Given the description of an element on the screen output the (x, y) to click on. 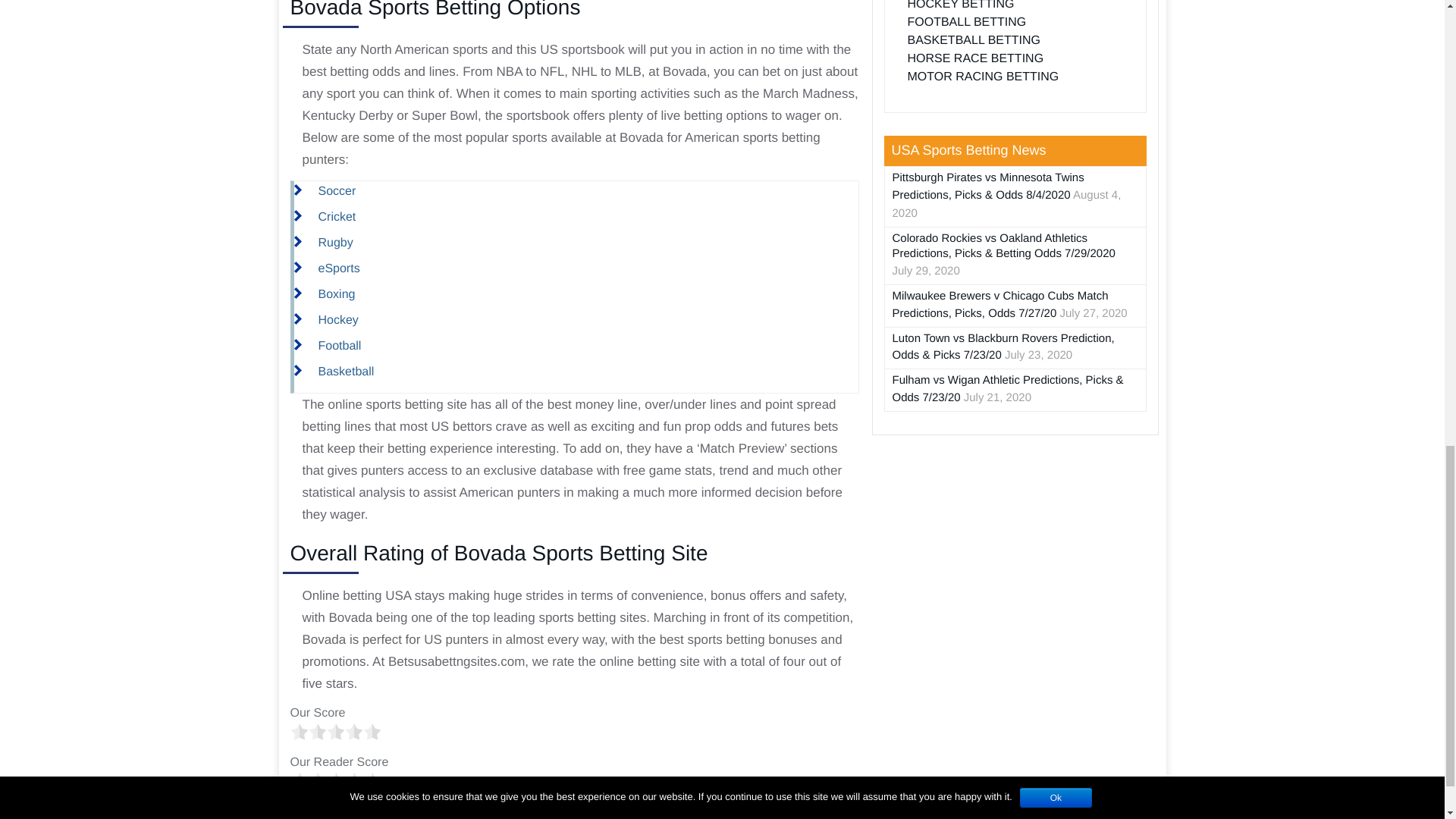
FOOTBALL BETTING (966, 21)
MOTOR RACING BETTING (982, 76)
HORSE RACE BETTING (975, 58)
BASKETBALL BETTING (973, 40)
HOCKEY BETTING (960, 5)
